Given the description of an element on the screen output the (x, y) to click on. 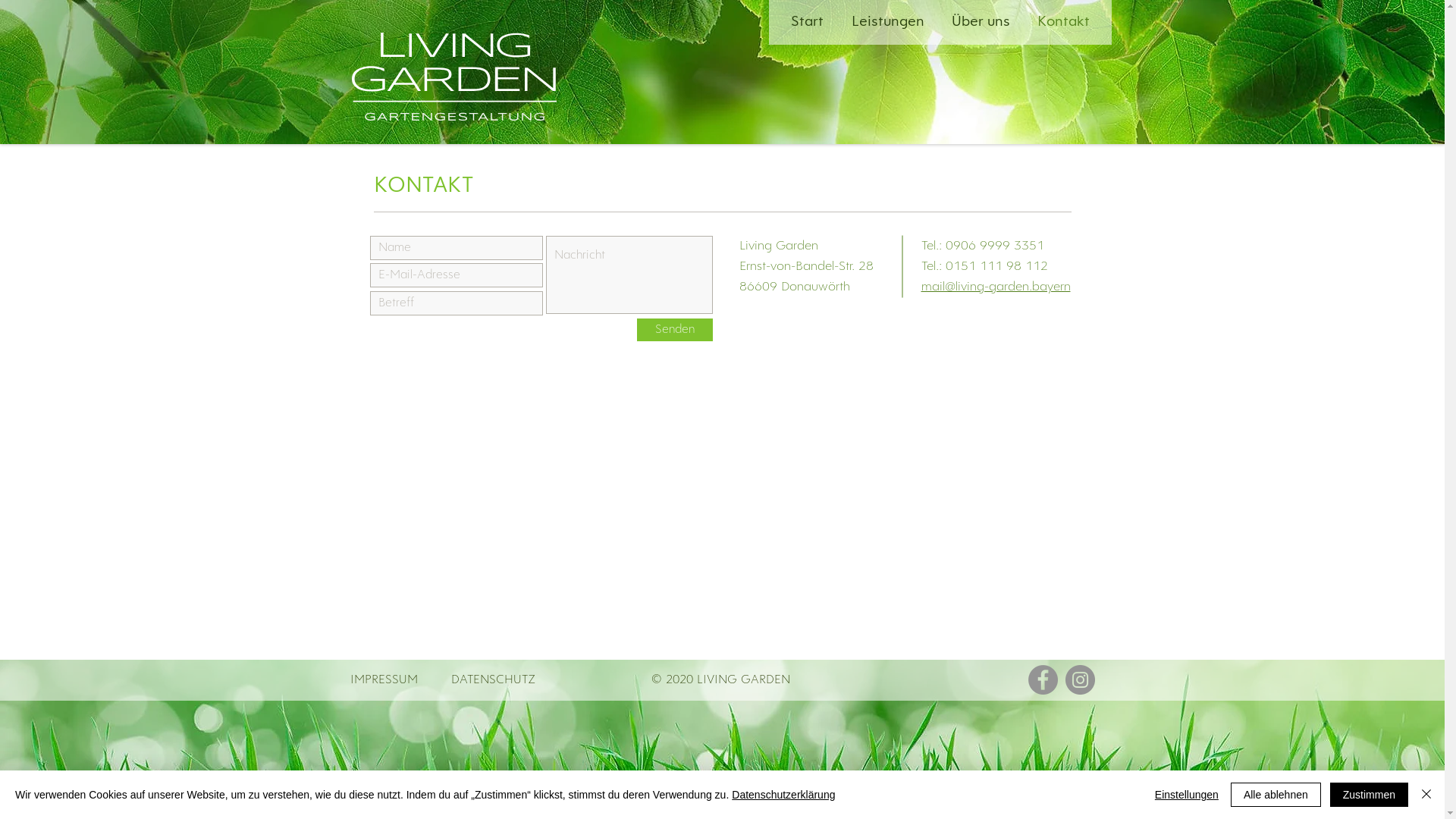
Zustimmen Element type: text (1369, 794)
Google Maps Element type: hover (721, 490)
Kontakt Element type: text (1064, 22)
mail@living-garden.bayern Element type: text (995, 286)
Senden Element type: text (674, 329)
IMPRESSUM Element type: text (383, 679)
Start Element type: text (809, 22)
DATENSCHUTZ Element type: text (492, 679)
Leistungen Element type: text (889, 22)
Alle ablehnen Element type: text (1275, 794)
